Given the description of an element on the screen output the (x, y) to click on. 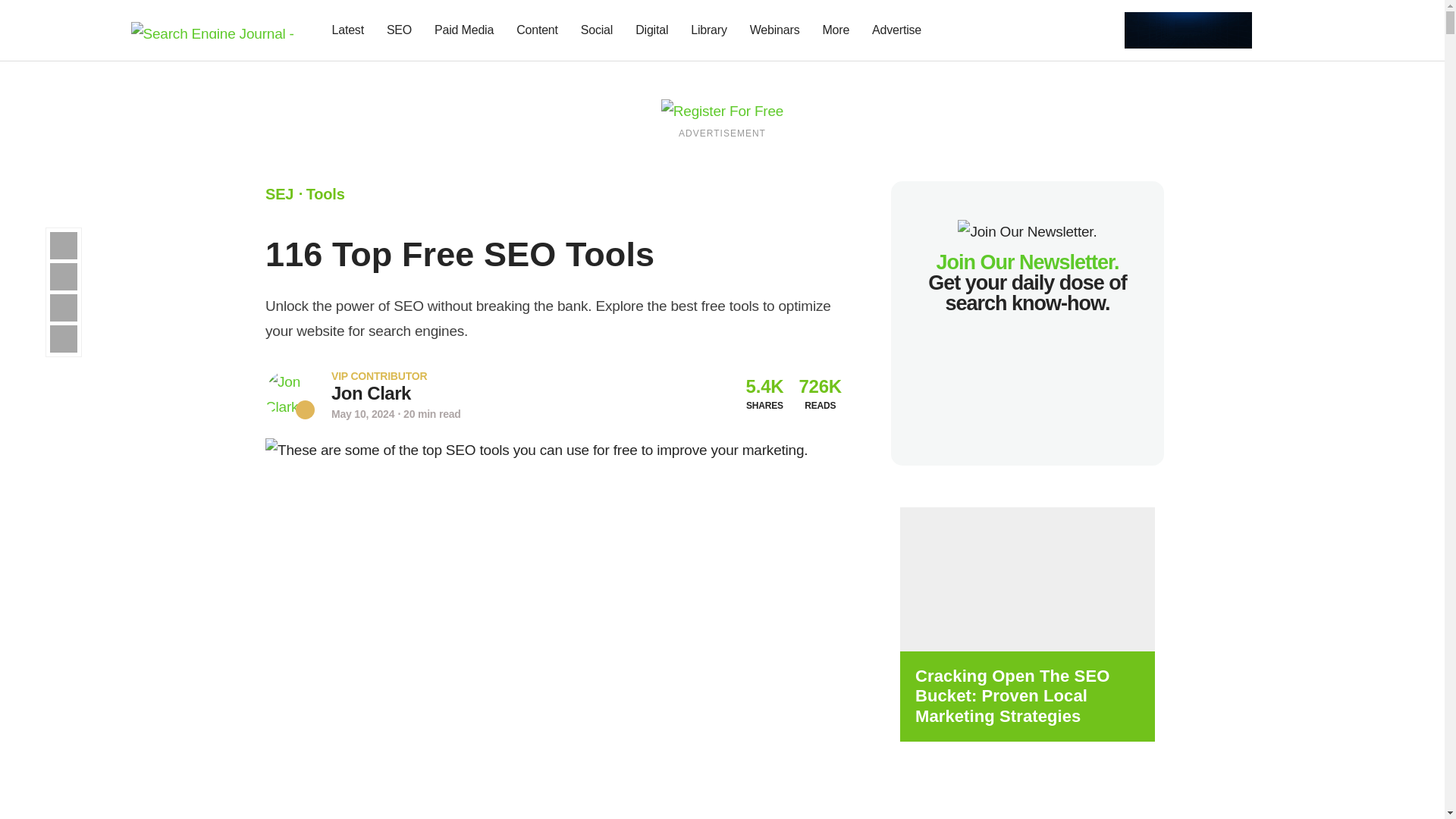
Go to Author Page (370, 393)
Latest (347, 30)
Paid Media (464, 30)
Go to Author Page (289, 394)
Register For Free (1187, 28)
Special Offer (552, 795)
Register For Free (722, 109)
Subscribe to our Newsletter (1277, 30)
